Given the description of an element on the screen output the (x, y) to click on. 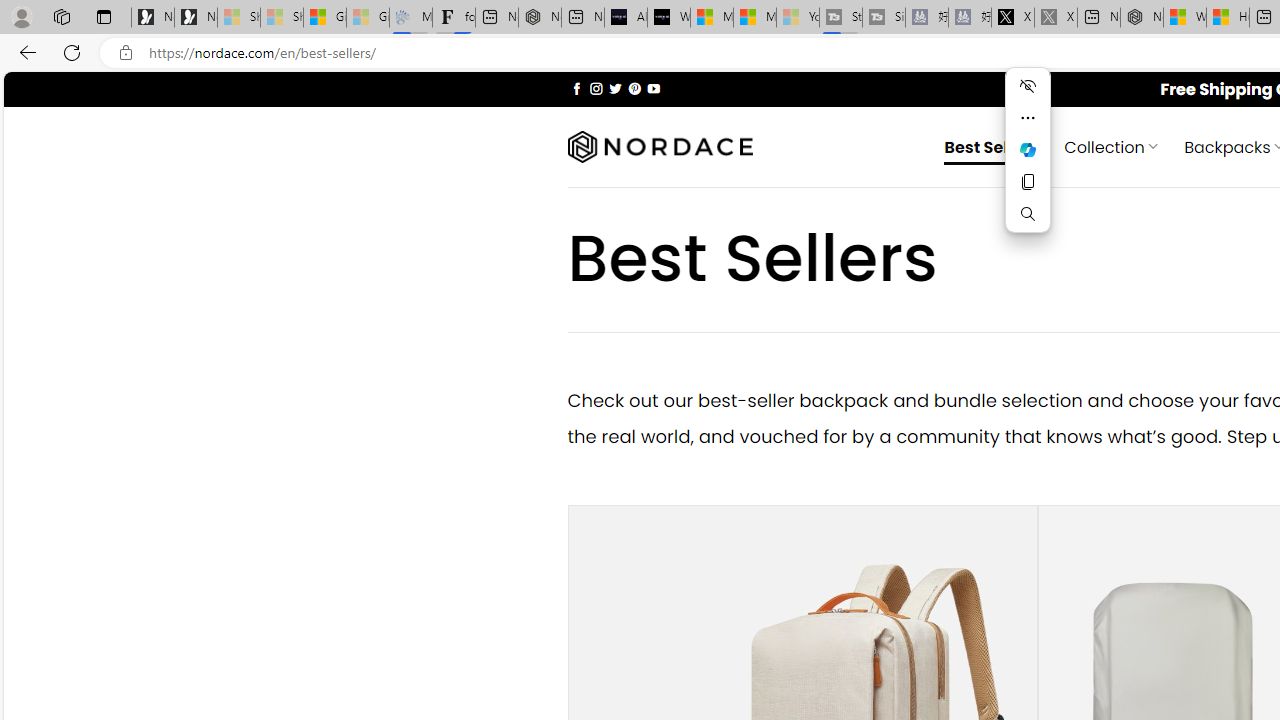
Follow on Facebook (576, 88)
X (1013, 17)
Mini menu on text selection (1027, 161)
Wildlife - MSN (1184, 17)
X - Sleeping (1055, 17)
Nordace - #1 Japanese Best-Seller - Siena Smart Backpack (539, 17)
Follow on Pinterest (634, 88)
Hide menu (1027, 85)
Microsoft Start Sports (712, 17)
